Given the description of an element on the screen output the (x, y) to click on. 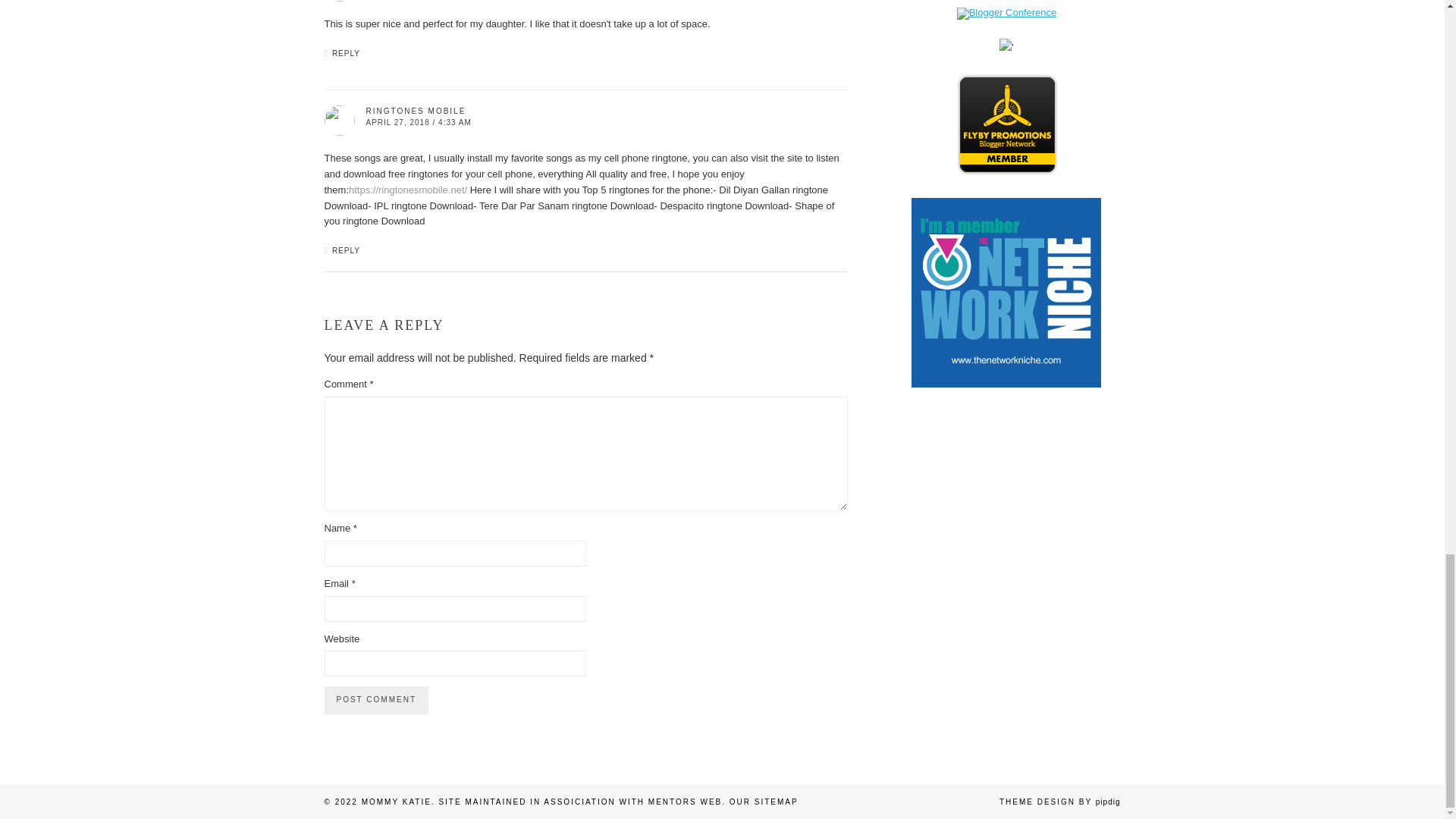
Post Comment (376, 699)
Blogger Conference (1006, 12)
The Network Niche (1005, 383)
REPLY (345, 53)
Post Comment (376, 699)
I Have Massive Sway (1005, 739)
REPLY (345, 250)
